Given the description of an element on the screen output the (x, y) to click on. 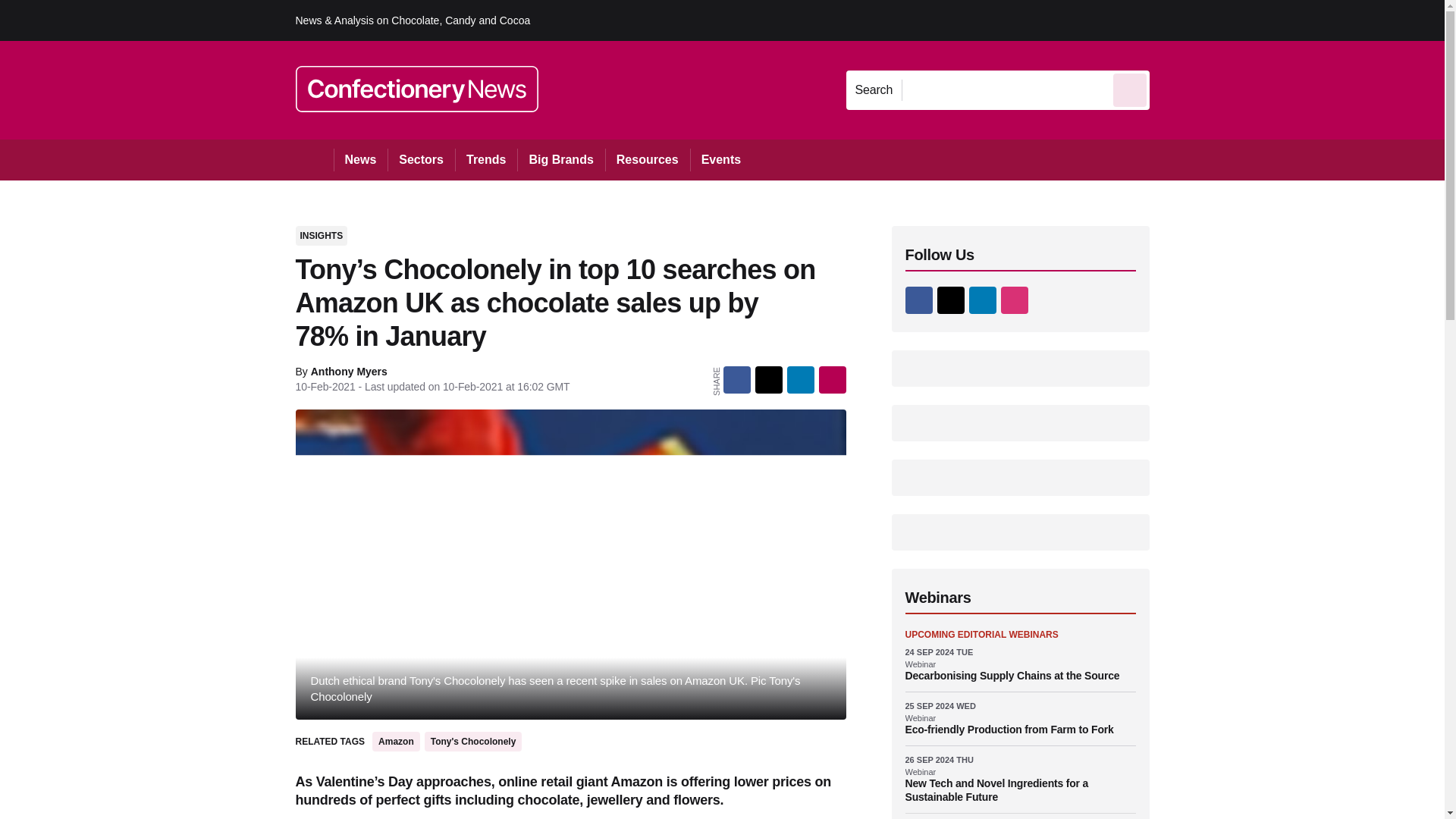
Send (1129, 90)
Send (1129, 89)
My account (1256, 20)
REGISTER (1250, 20)
Trends (485, 159)
Sign out (1174, 20)
ConfectioneryNews (416, 89)
Sign in (1171, 20)
News (360, 159)
Sectors (420, 159)
